Given the description of an element on the screen output the (x, y) to click on. 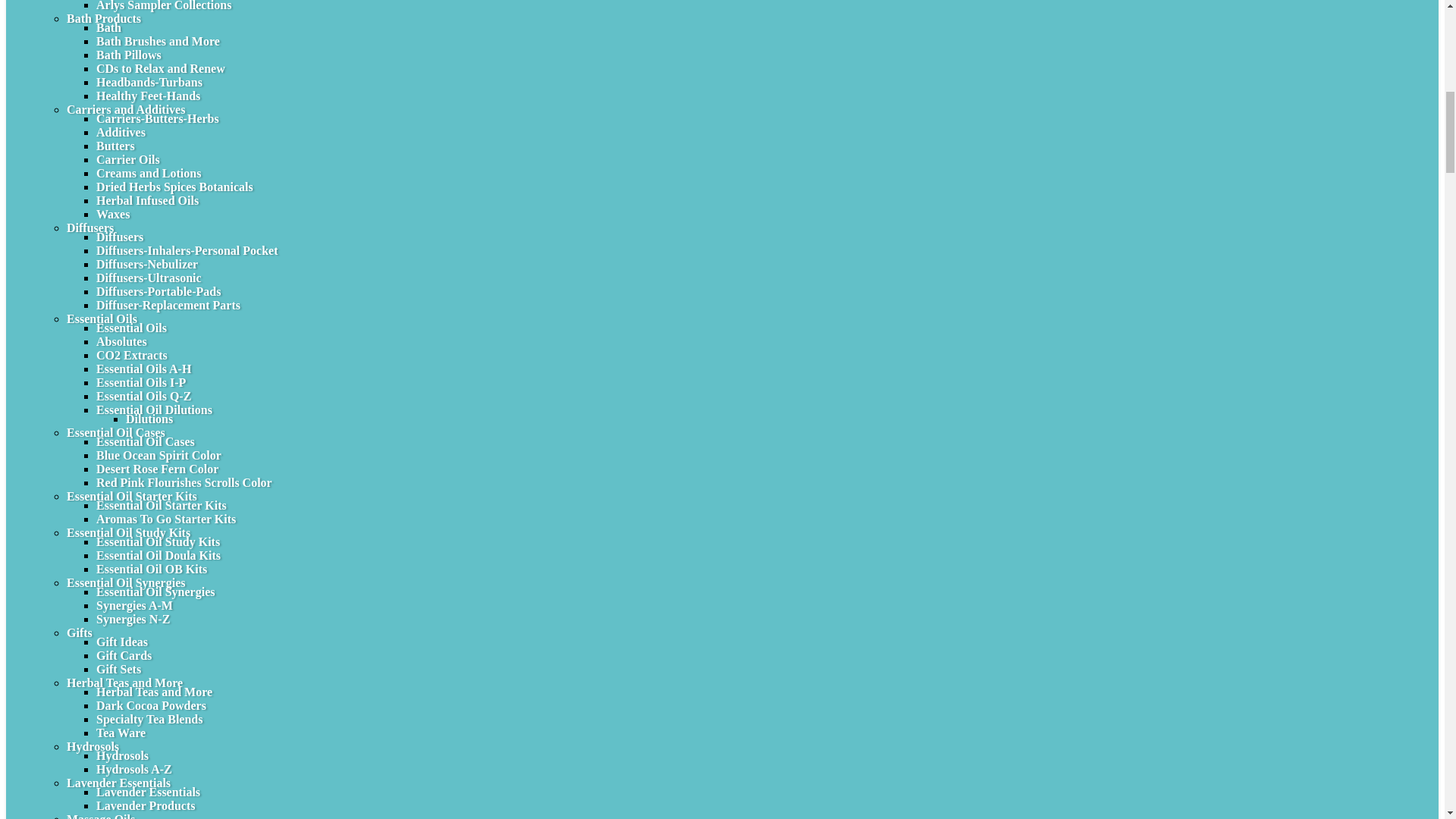
Bath (108, 27)
Bath Brushes and More (157, 41)
Arlys Sampler Collections (163, 5)
Bath Products (103, 18)
